Given the description of an element on the screen output the (x, y) to click on. 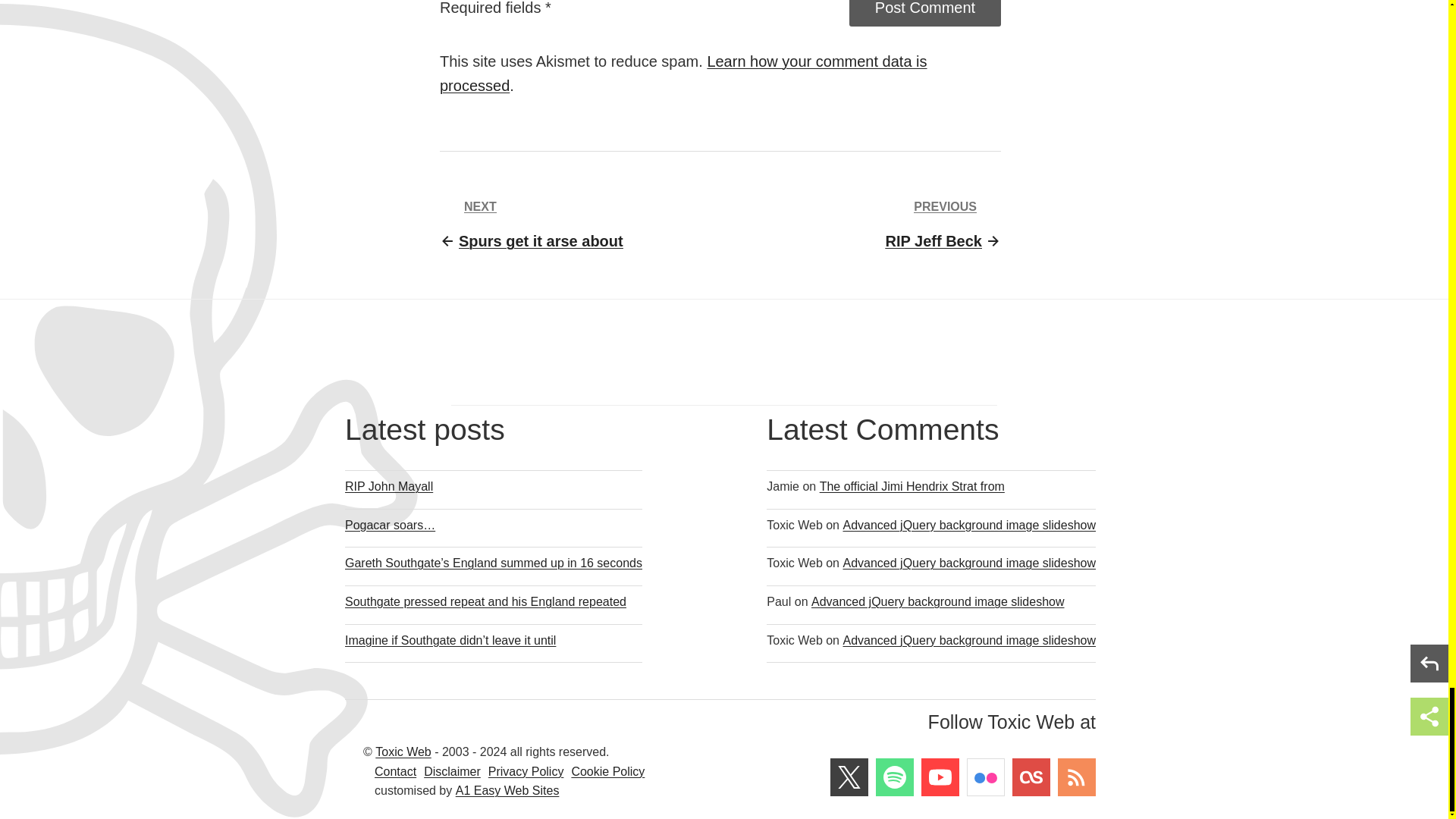
Southgate pressed repeat and his England repeated (493, 601)
on (445, 1)
Learn how your comment data is processed (531, 225)
RIP John Mayall (943, 225)
Post Comment (683, 73)
